Given the description of an element on the screen output the (x, y) to click on. 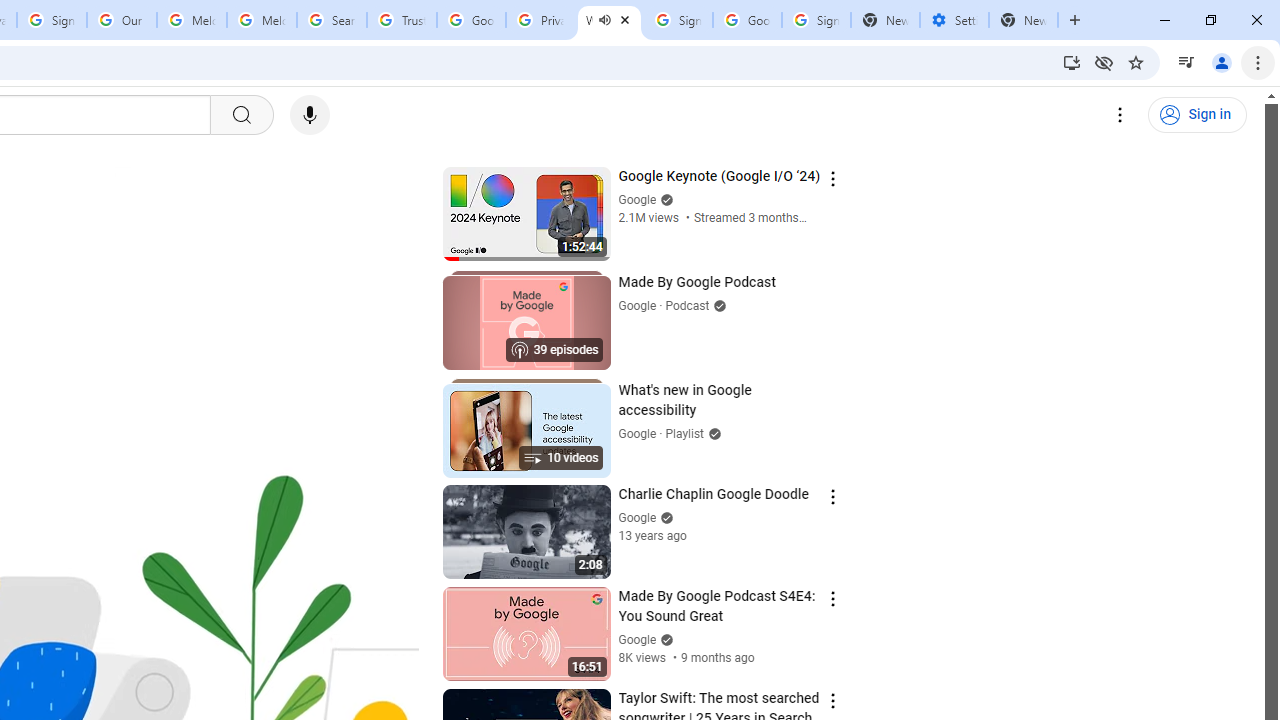
Action menu (832, 700)
Settings - Addresses and more (954, 20)
